Given the description of an element on the screen output the (x, y) to click on. 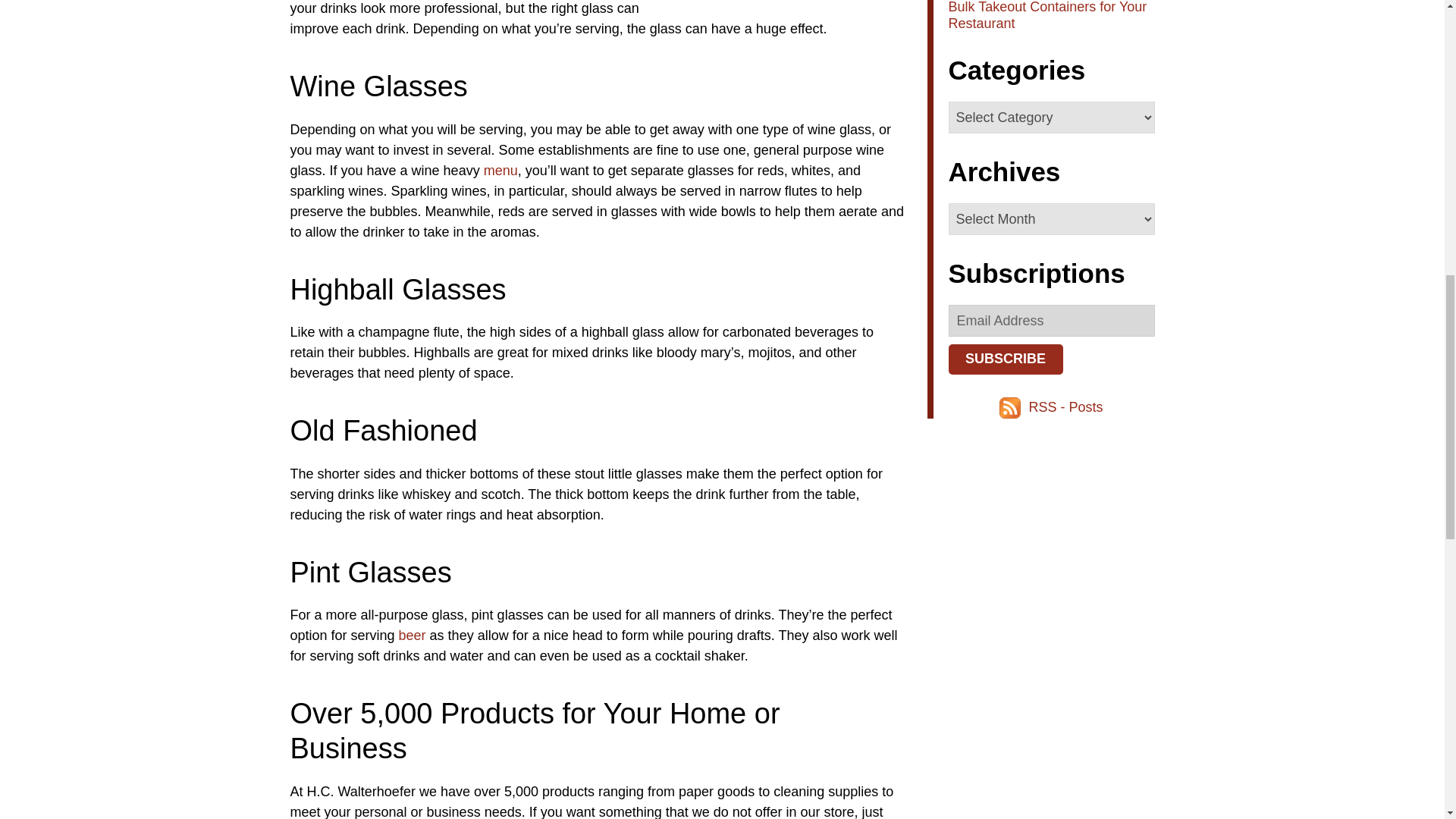
Subscribe to Posts (1011, 406)
Subscribe to Posts (1064, 406)
beer (412, 635)
Subscribe (1004, 358)
menu (500, 170)
